Given the description of an element on the screen output the (x, y) to click on. 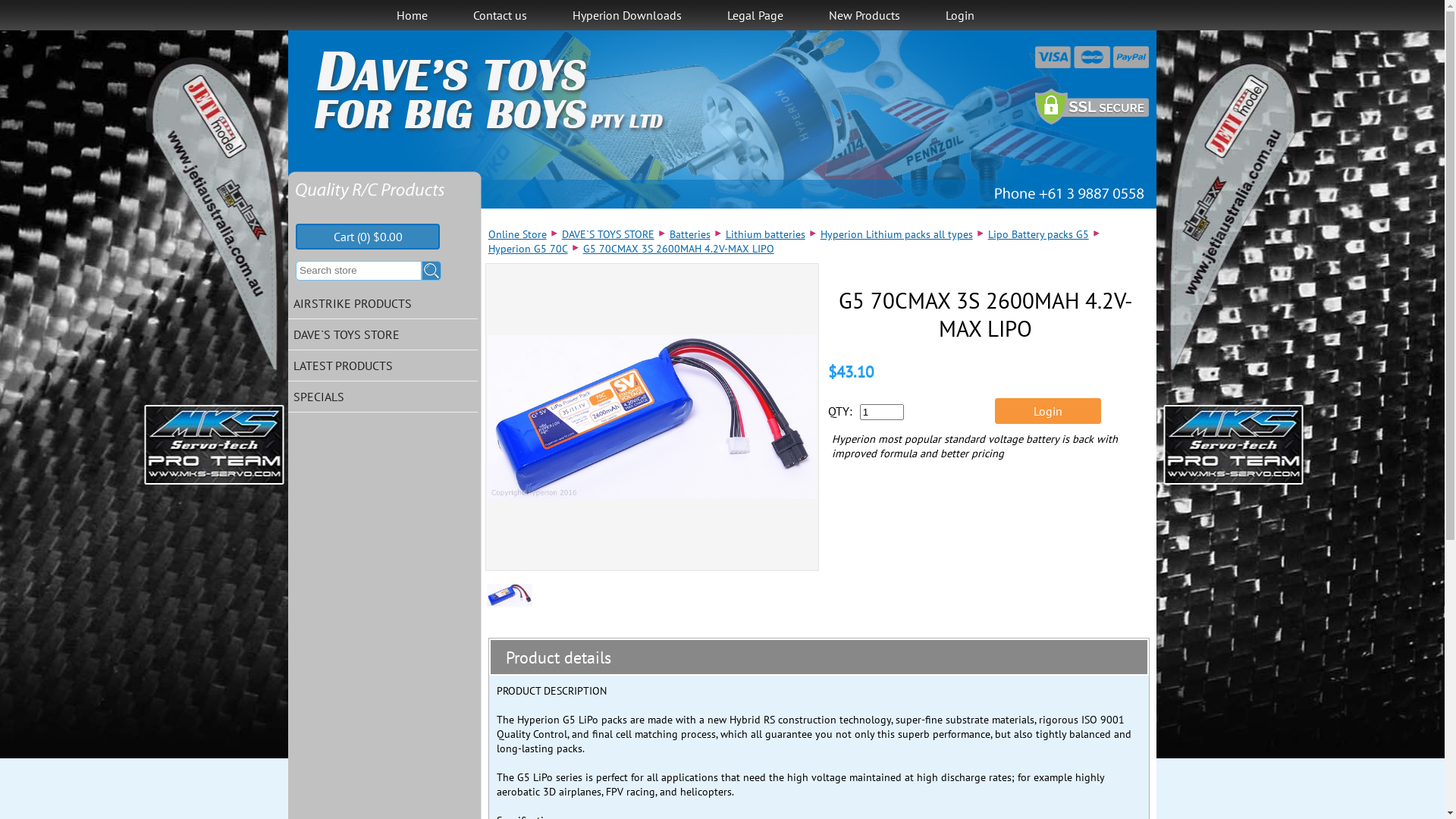
Online Store Element type: text (517, 233)
Hyperion Downloads Element type: text (626, 15)
G5 70CMAX 3S 2600MAH 4.2V-MAX LIPO Element type: text (678, 248)
G5 70CMAX 3S 2600MAH 4.2V-MAX LIPO Element type: hover (651, 416)
AIRSTRIKE PRODUCTS Element type: text (382, 303)
Home Element type: text (411, 15)
Contact us Element type: text (499, 15)
SPECIALS Element type: text (382, 396)
Login Element type: text (1047, 410)
Lipo Battery packs G5 Element type: text (1038, 233)
DAVE`S TOYS STORE Element type: text (382, 334)
Legal Page Element type: text (754, 15)
DAVE`S TOYS STORE Element type: text (607, 233)
Lithium batteries Element type: text (765, 233)
Batteries Element type: text (689, 233)
Hyperion Lithium packs all types Element type: text (896, 233)
Hyperion G5 70C Element type: text (527, 248)
LATEST PRODUCTS Element type: text (382, 365)
Login Element type: text (959, 15)
New Products Element type: text (863, 15)
Cart (0) $0.00 Element type: text (367, 236)
